Given the description of an element on the screen output the (x, y) to click on. 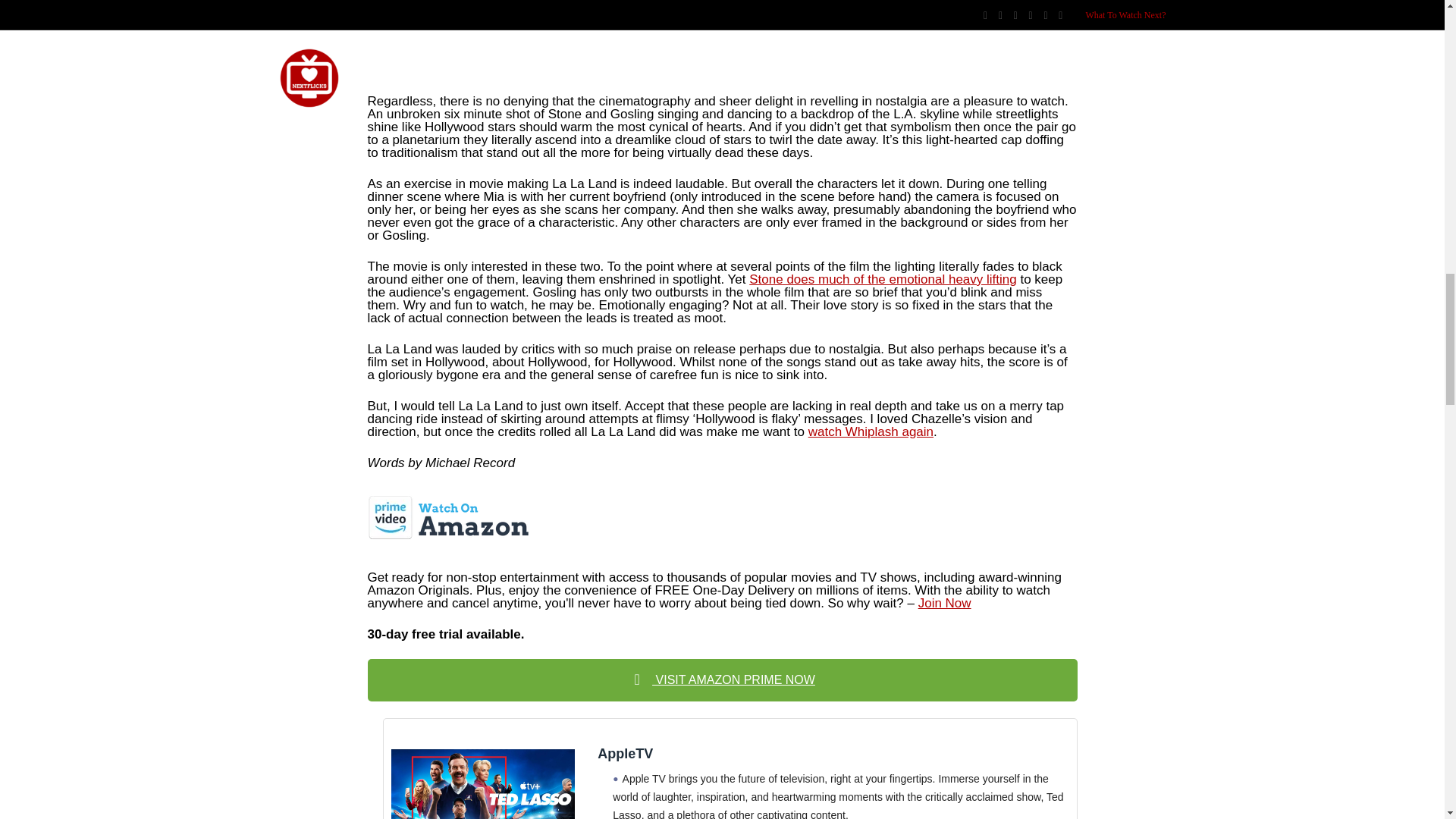
La La Land - "A lovely night" scene (721, 37)
